Given the description of an element on the screen output the (x, y) to click on. 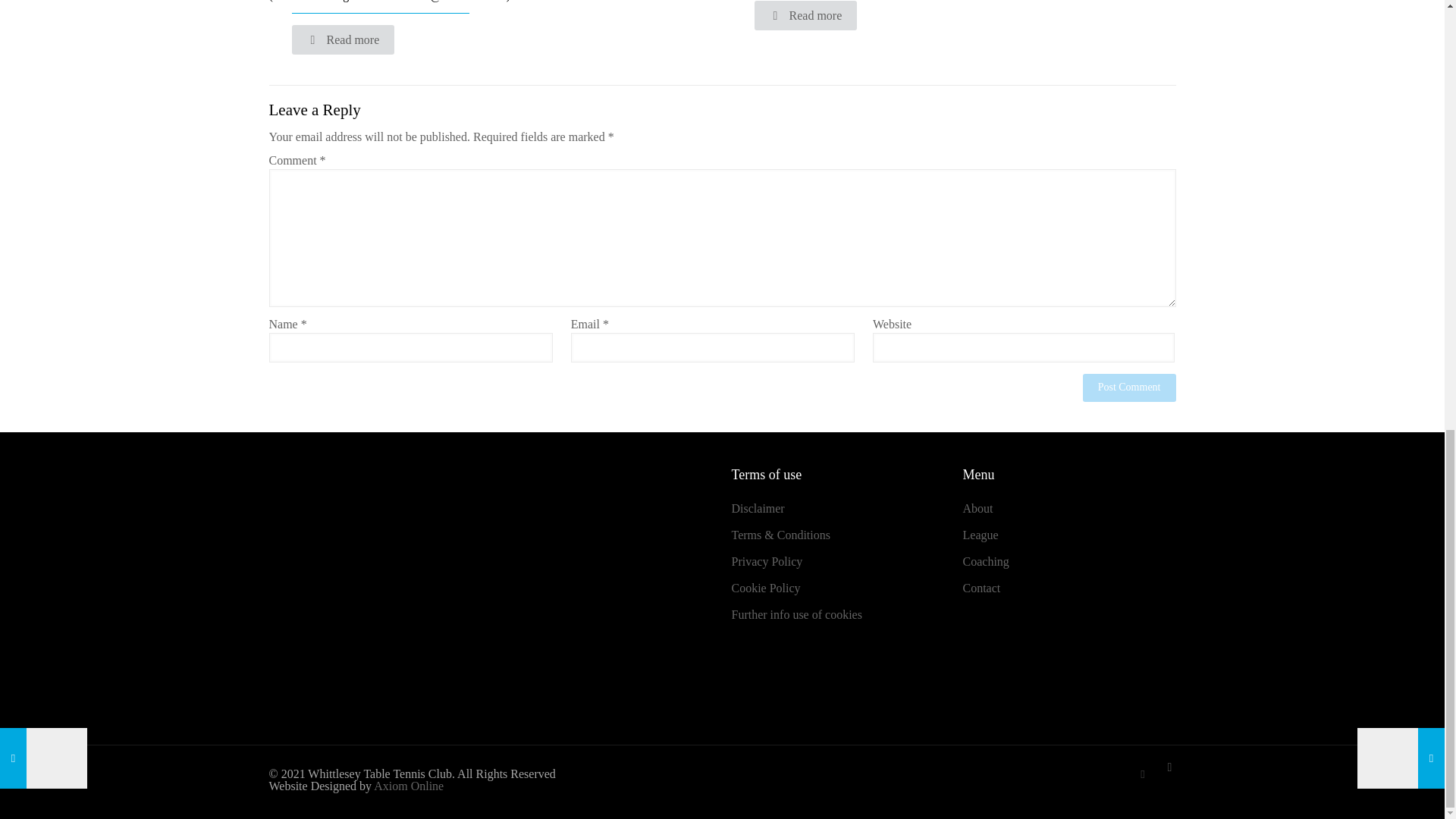
Facebook (1142, 774)
Further info use of cookies (795, 614)
Contact (981, 587)
Post Comment (1129, 387)
Read more (342, 39)
Disclaimer (757, 508)
About (977, 508)
Coaching (985, 561)
Post Comment (1129, 387)
Read more (805, 15)
Privacy Policy (766, 561)
Axiom Online (409, 785)
Cookie Policy (764, 587)
League (980, 534)
